Given the description of an element on the screen output the (x, y) to click on. 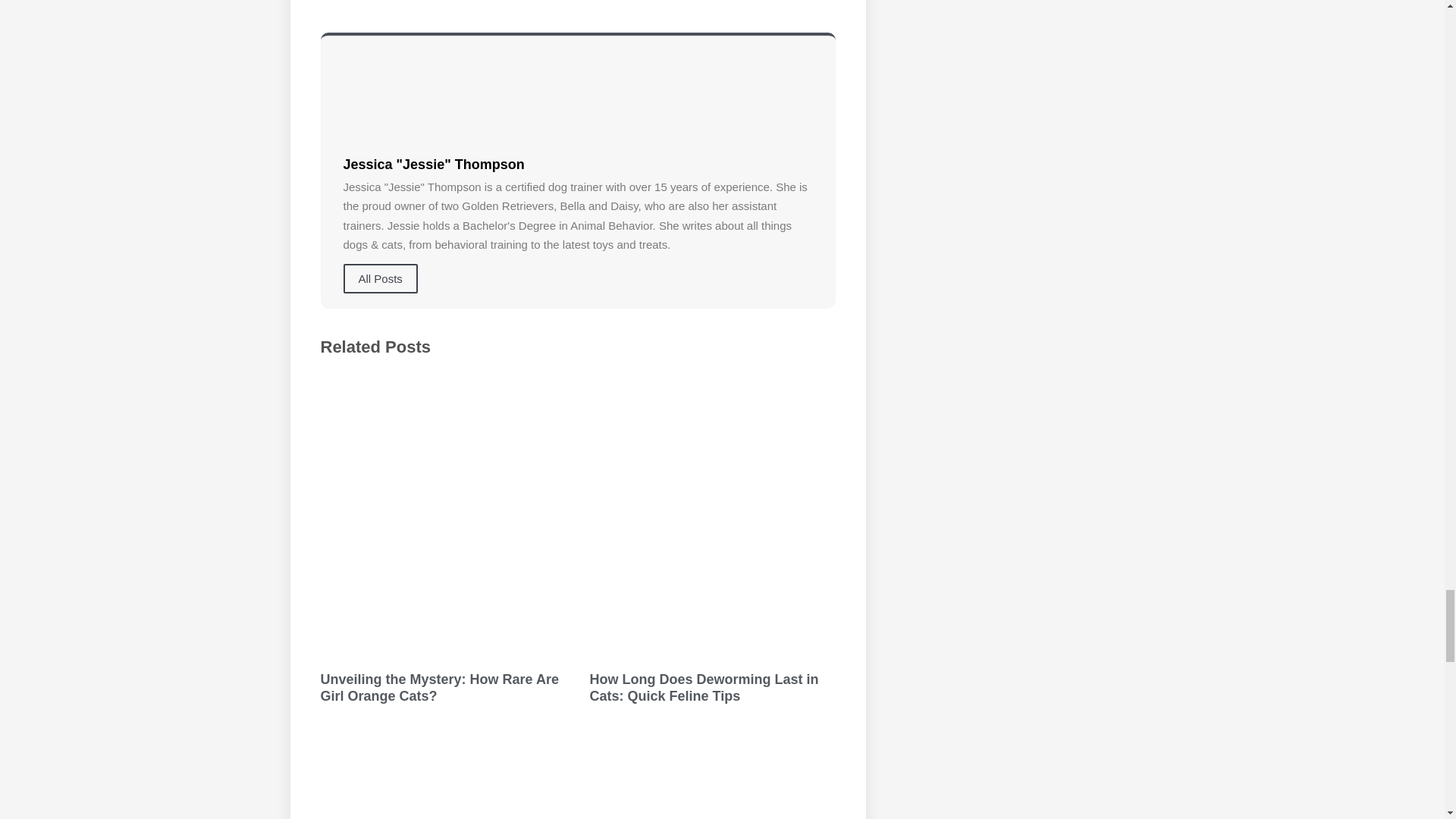
All Posts (379, 278)
How Long Does Deworming Last in Cats: Quick Feline Tips (703, 687)
Unveiling the Mystery: How Rare Are Girl Orange Cats? (438, 687)
